Given the description of an element on the screen output the (x, y) to click on. 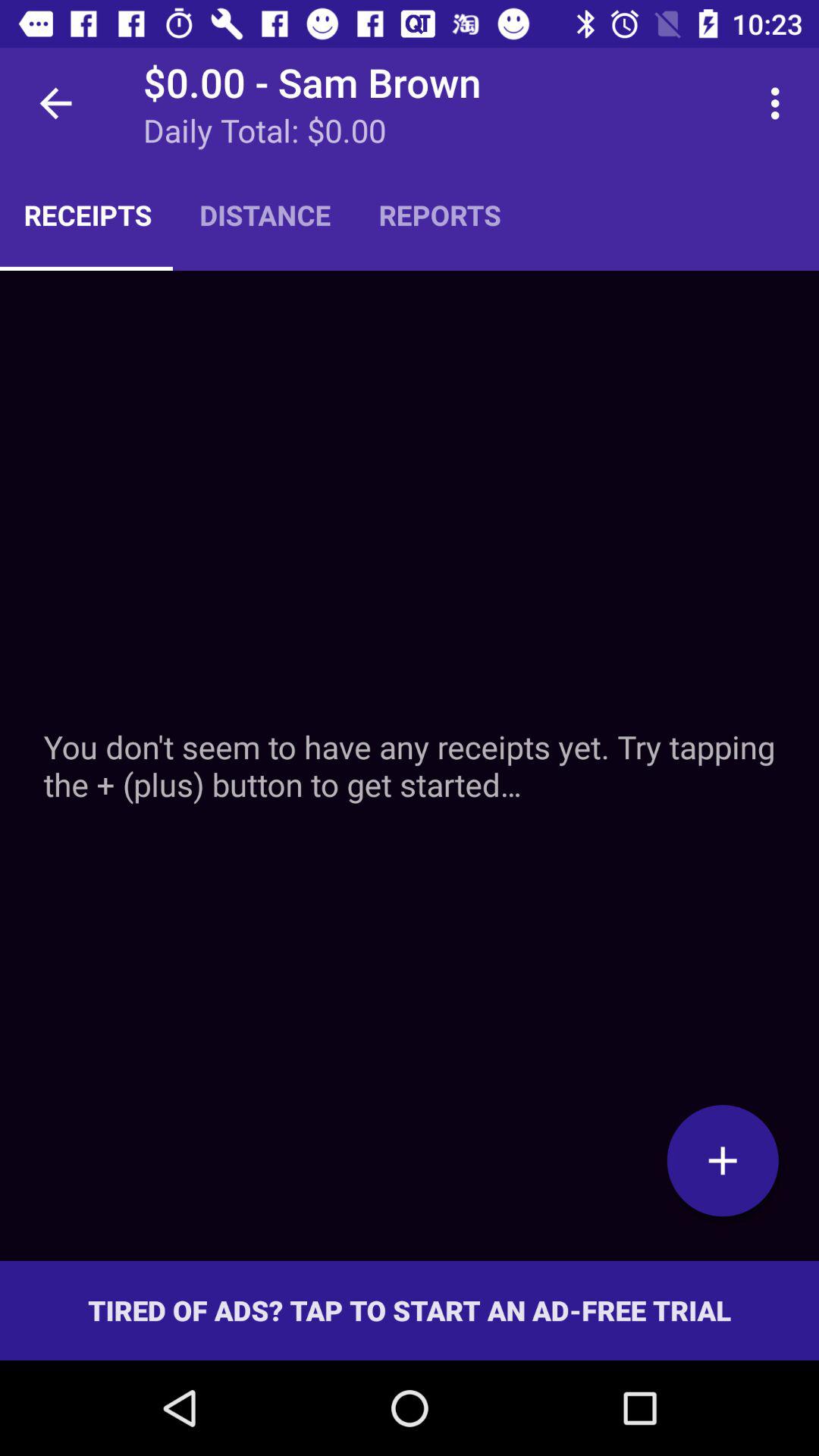
launch item above the receipts icon (55, 103)
